Given the description of an element on the screen output the (x, y) to click on. 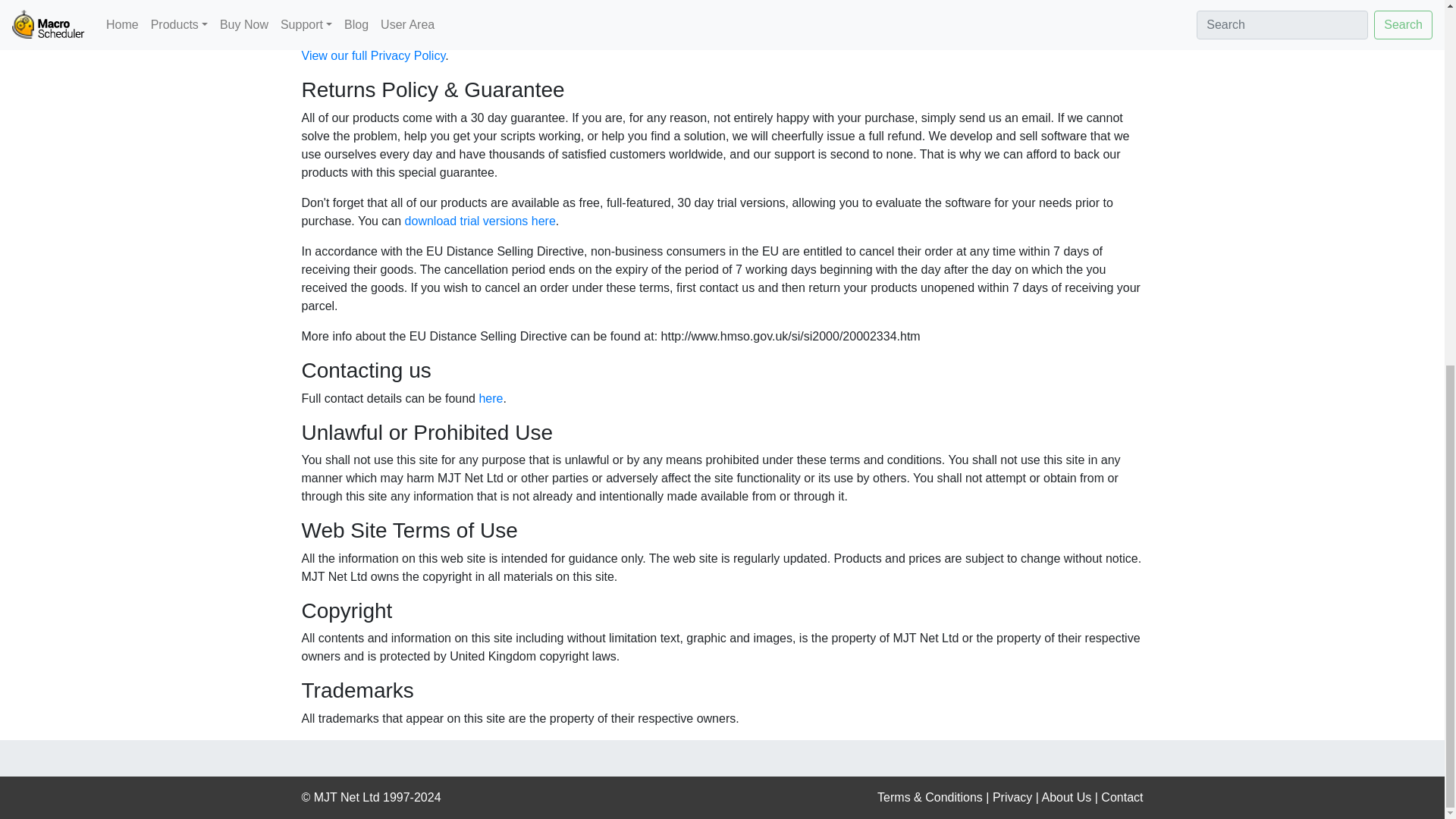
download trial versions here (480, 220)
Contact (1121, 797)
Privacy (1012, 797)
About Us (1067, 797)
here (490, 398)
View our full Privacy Policy (373, 55)
